Given the description of an element on the screen output the (x, y) to click on. 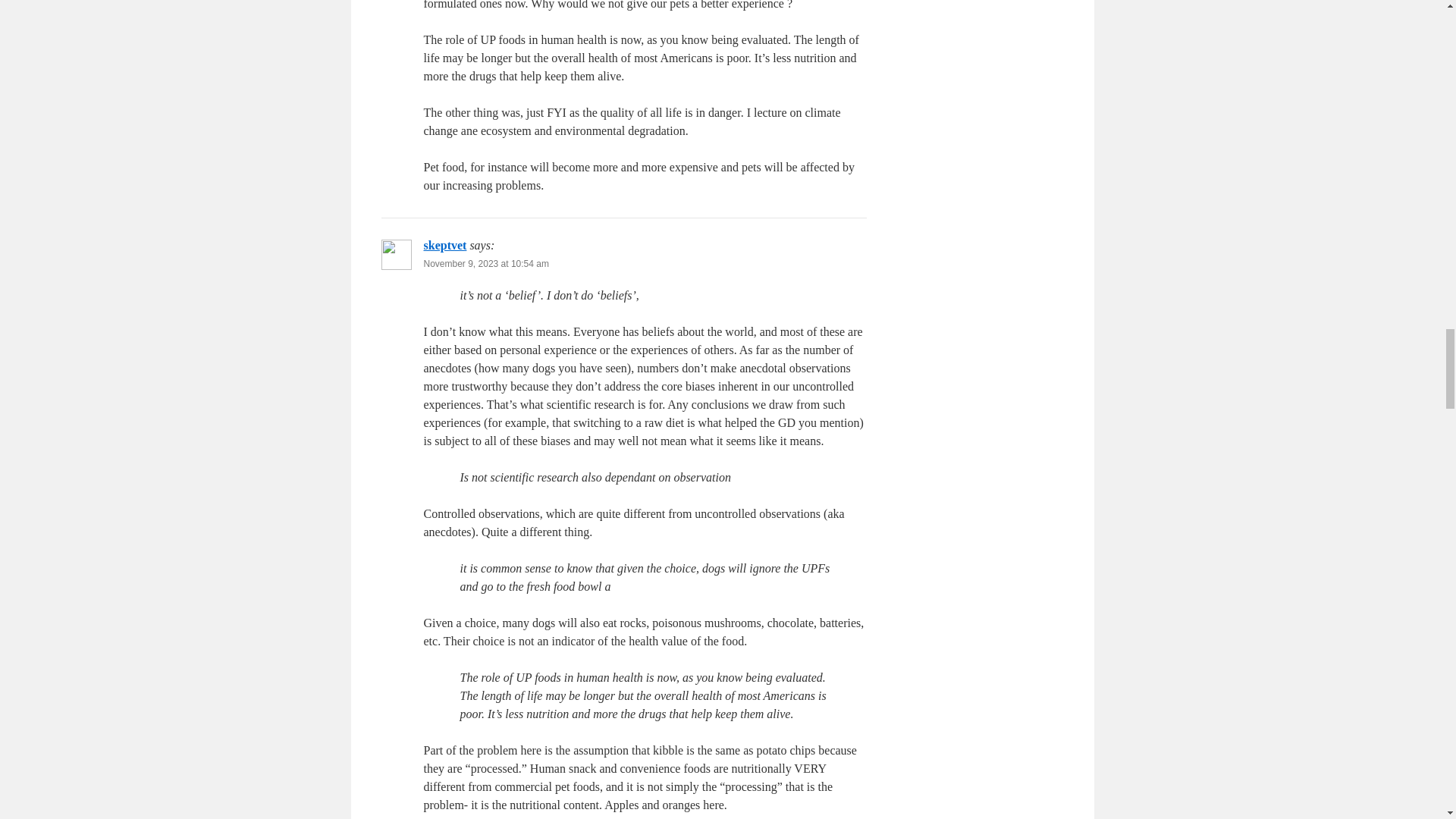
November 9, 2023 at 10:54 am (485, 263)
skeptvet (444, 245)
